Given the description of an element on the screen output the (x, y) to click on. 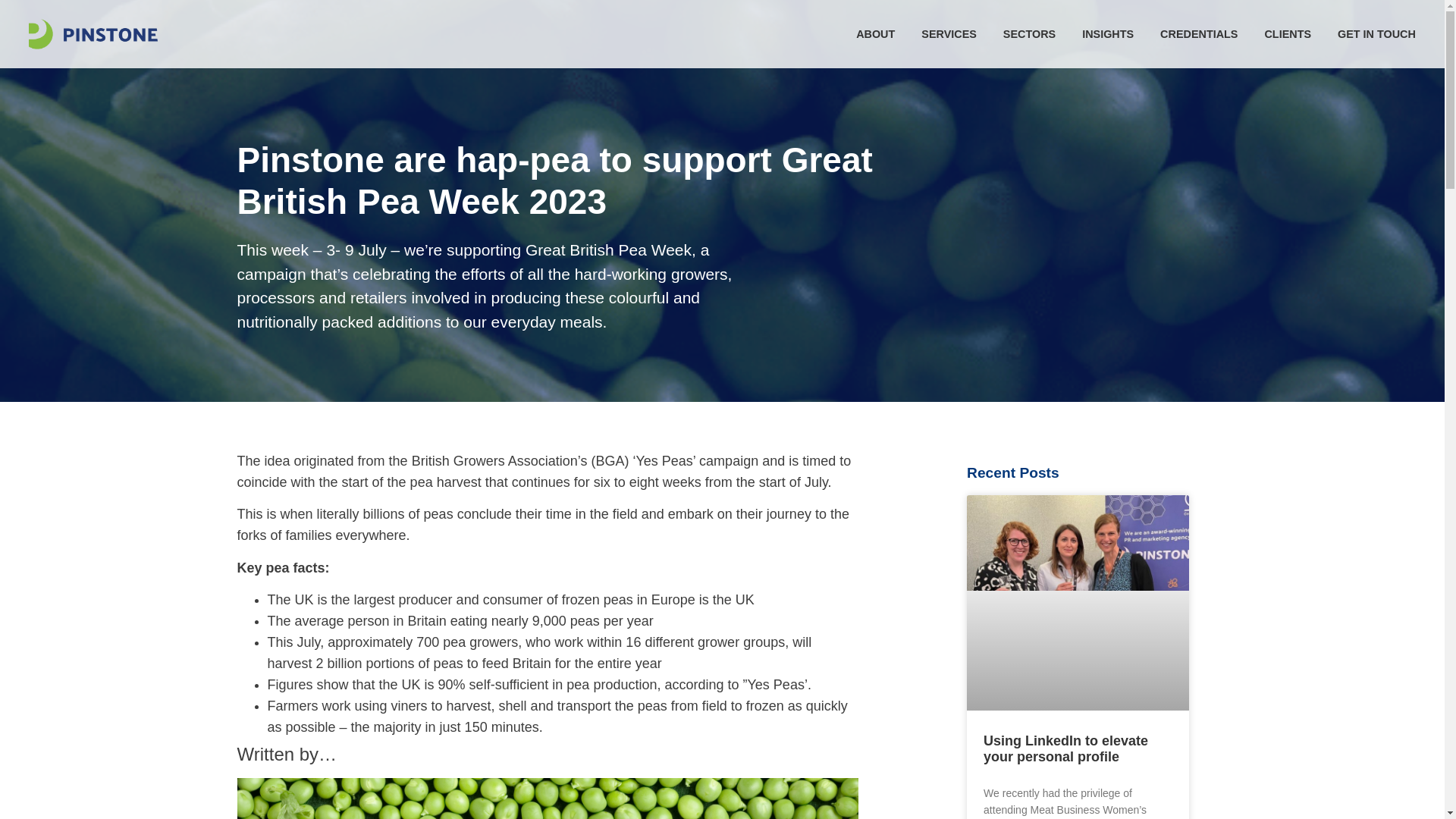
CREDENTIALS (1198, 33)
British Peas (546, 798)
CLIENTS (1287, 33)
SECTORS (1029, 33)
SERVICES (948, 33)
INSIGHTS (1107, 33)
ABOUT (875, 33)
GET IN TOUCH (1376, 33)
